Given the description of an element on the screen output the (x, y) to click on. 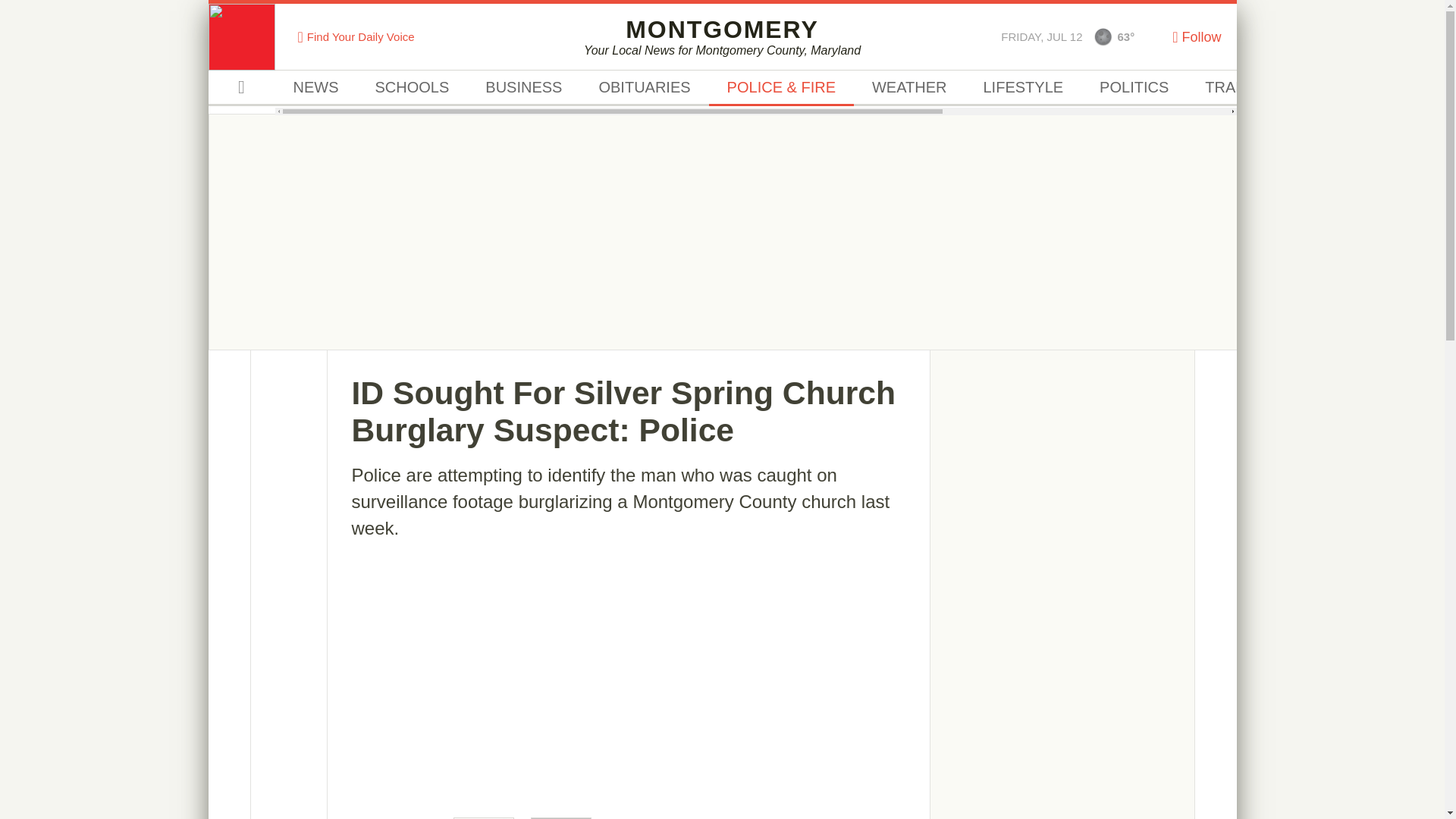
POLITICS (1133, 88)
TAGS (1325, 88)
NEWS (315, 88)
JOBS (721, 36)
LIFESTYLE (1401, 88)
TRAFFIC (1022, 88)
SCHOOLS (1236, 88)
OBITUARIES (411, 88)
WEATHER (643, 88)
Fair (909, 88)
BUSINESS (1102, 36)
